Given the description of an element on the screen output the (x, y) to click on. 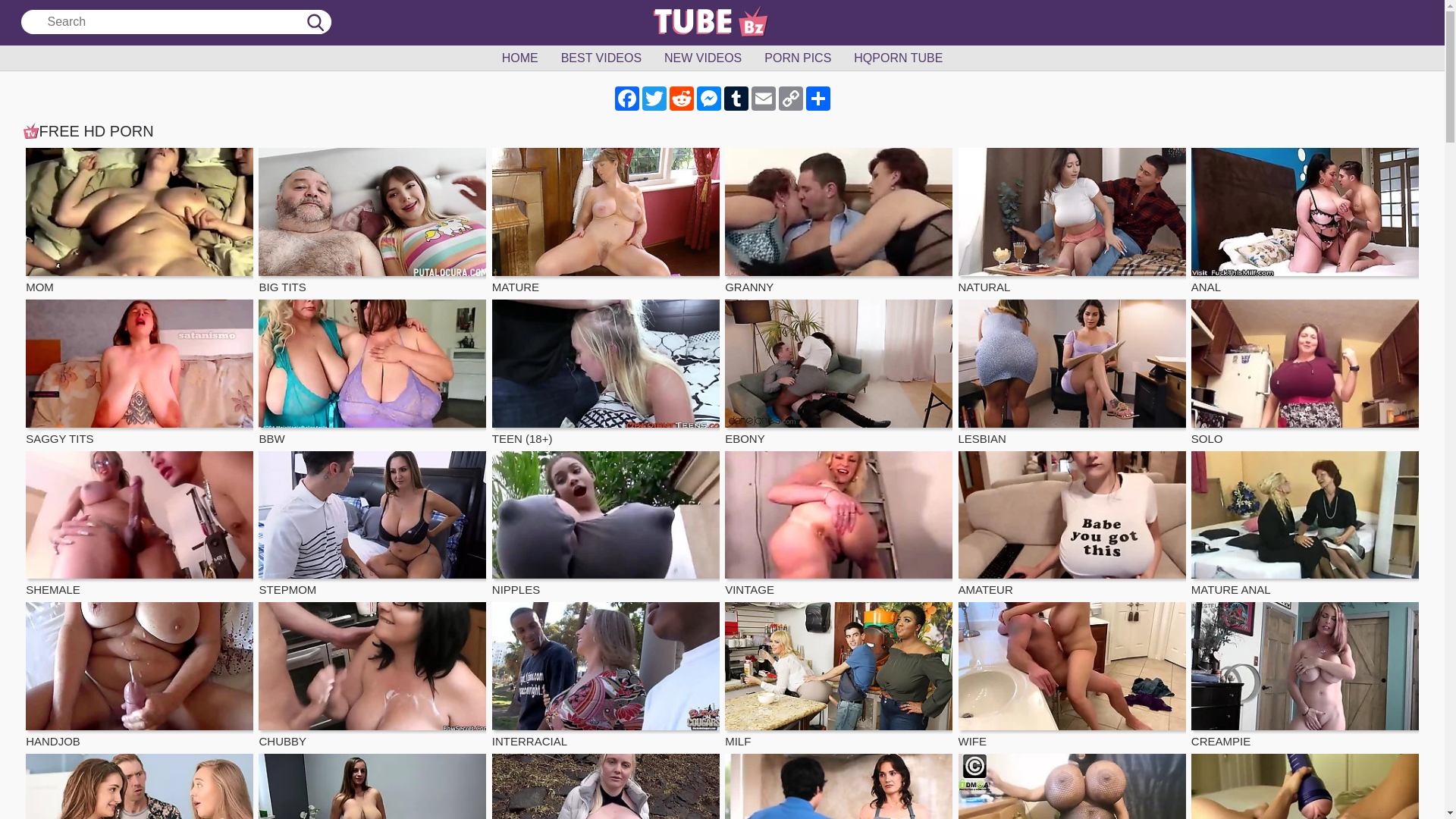
EBONY Element type: text (838, 373)
NEW VIDEOS Element type: text (702, 58)
Home Element type: hover (722, 22)
INTERRACIAL Element type: text (605, 676)
MILF Element type: text (838, 676)
HQPORN TUBE Element type: text (898, 58)
CREAMPIE Element type: text (1304, 676)
BBW Element type: text (372, 373)
NIPPLES Element type: text (605, 525)
SHEMALE Element type: text (139, 525)
GRANNY Element type: text (838, 221)
NATURAL Element type: text (1072, 221)
Email Element type: text (762, 98)
PORN PICS Element type: text (797, 58)
WIFE Element type: text (1072, 676)
HANDJOB Element type: text (139, 676)
Reddit Element type: text (680, 98)
SAGGY TITS Element type: text (139, 373)
ANAL Element type: text (1304, 221)
HOME Element type: text (520, 58)
SOLO Element type: text (1304, 373)
MOM Element type: text (139, 221)
LESBIAN Element type: text (1072, 373)
TEEN (18+) Element type: text (605, 373)
BEST VIDEOS Element type: text (601, 58)
CHUBBY Element type: text (372, 676)
AMATEUR Element type: text (1072, 525)
MATURE ANAL Element type: text (1304, 525)
Tumblr Element type: text (735, 98)
BIG TITS Element type: text (372, 221)
Facebook Element type: text (626, 98)
Copy Link Element type: text (789, 98)
Share Element type: text (817, 98)
STEPMOM Element type: text (372, 525)
Messenger Element type: text (707, 98)
MATURE Element type: text (605, 221)
VINTAGE Element type: text (838, 525)
Twitter Element type: text (653, 98)
